Given the description of an element on the screen output the (x, y) to click on. 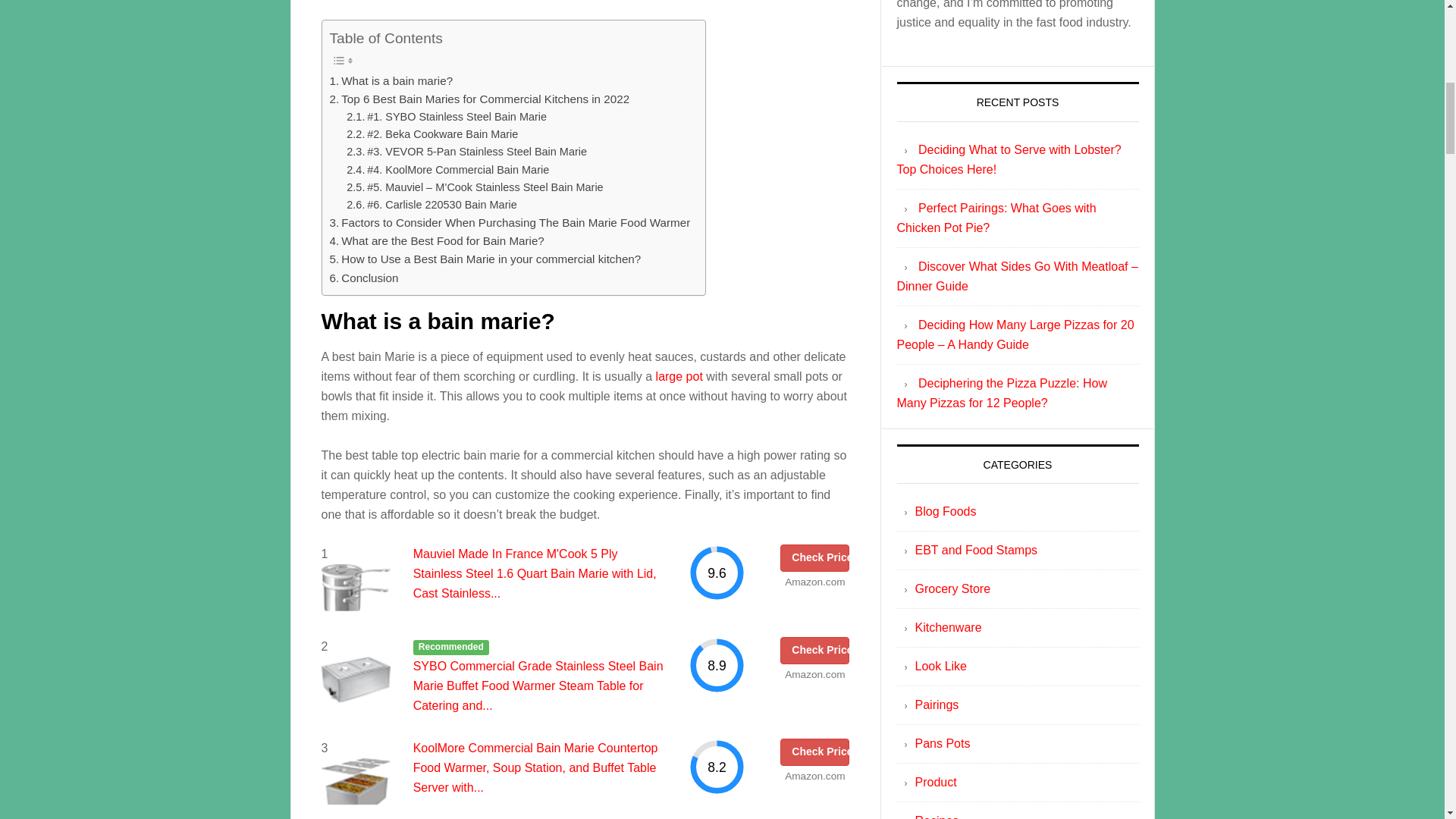
What is a bain marie? (390, 81)
What are the Best Food for Bain Marie? (436, 240)
large pot (679, 376)
Top 6 Best Bain Maries for Commercial Kitchens in 2022 (478, 99)
How to Use a Best Bain Marie in your commercial kitchen? (484, 259)
Conclusion (363, 278)
Conclusion (363, 278)
Check Price (814, 751)
